Given the description of an element on the screen output the (x, y) to click on. 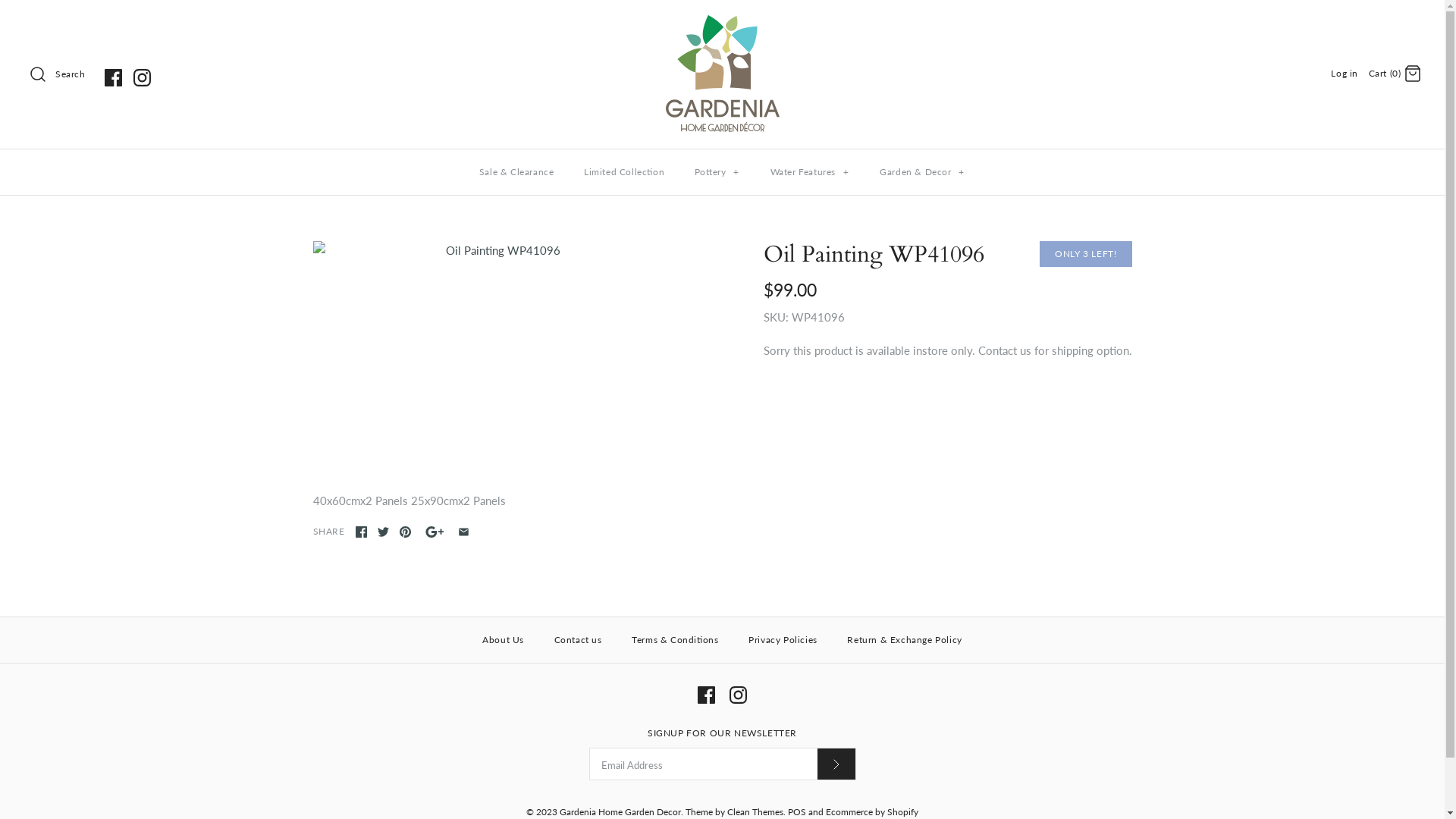
Gardenia Home Garden Decor Element type: text (619, 811)
Return & Exchange Policy Element type: text (904, 639)
Instagram Element type: text (141, 77)
Limited Collection Element type: text (623, 172)
GooglePlus Element type: text (434, 531)
Twitter Element type: text (383, 531)
About Us Element type: text (502, 639)
Sale & Clearance Element type: text (516, 172)
Ecommerce by Shopify Element type: text (871, 811)
Garden & Decor + Element type: text (922, 172)
Contact us Element type: text (577, 639)
Facebook Element type: text (706, 694)
Oil Painting WP41096 Element type: hover (496, 358)
Cart (0) Element type: text (1394, 72)
Gardenia Home Garden Decor Element type: hover (722, 24)
Clean Themes Element type: text (755, 811)
POS Element type: text (796, 811)
Pottery + Element type: text (716, 172)
Privacy Policies Element type: text (782, 639)
Terms & Conditions Element type: text (674, 639)
Facebook Element type: text (113, 77)
Pinterest Element type: text (404, 531)
Instagram Element type: text (737, 694)
Log in Element type: text (1344, 72)
Email Element type: text (463, 531)
Facebook Element type: text (360, 531)
Water Features + Element type: text (809, 172)
